Given the description of an element on the screen output the (x, y) to click on. 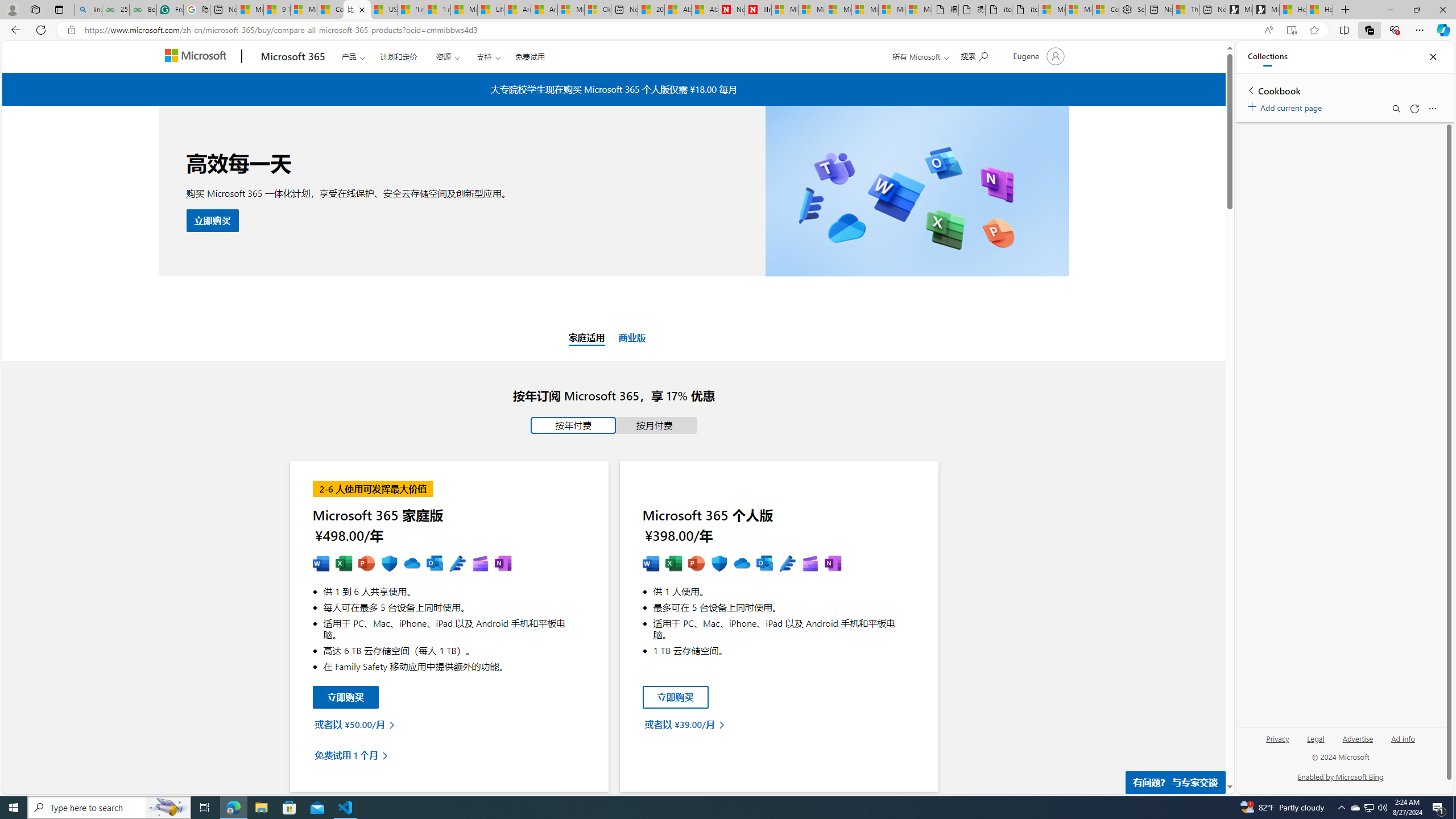
MS PowerPoint (695, 563)
MS Outlook  (764, 563)
How to Use a TV as a Computer Monitor (1319, 9)
MS Excel (673, 563)
Three Ways To Stop Sweating So Much (1185, 9)
